Given the description of an element on the screen output the (x, y) to click on. 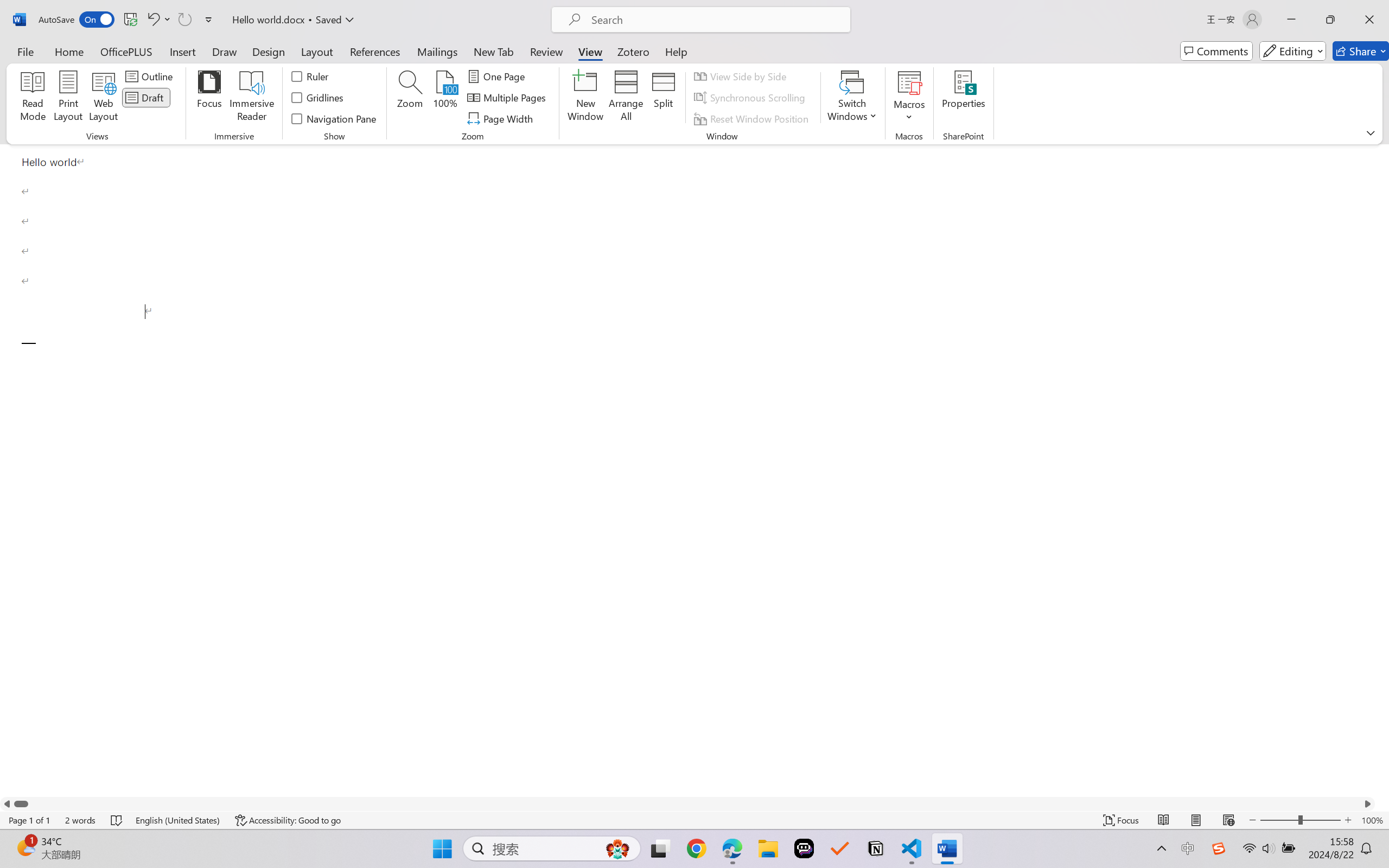
From Current Slide... (121, 62)
Accessibility Checker Accessibility: Good to go (215, 837)
From Beginning... (85, 62)
